Given the description of an element on the screen output the (x, y) to click on. 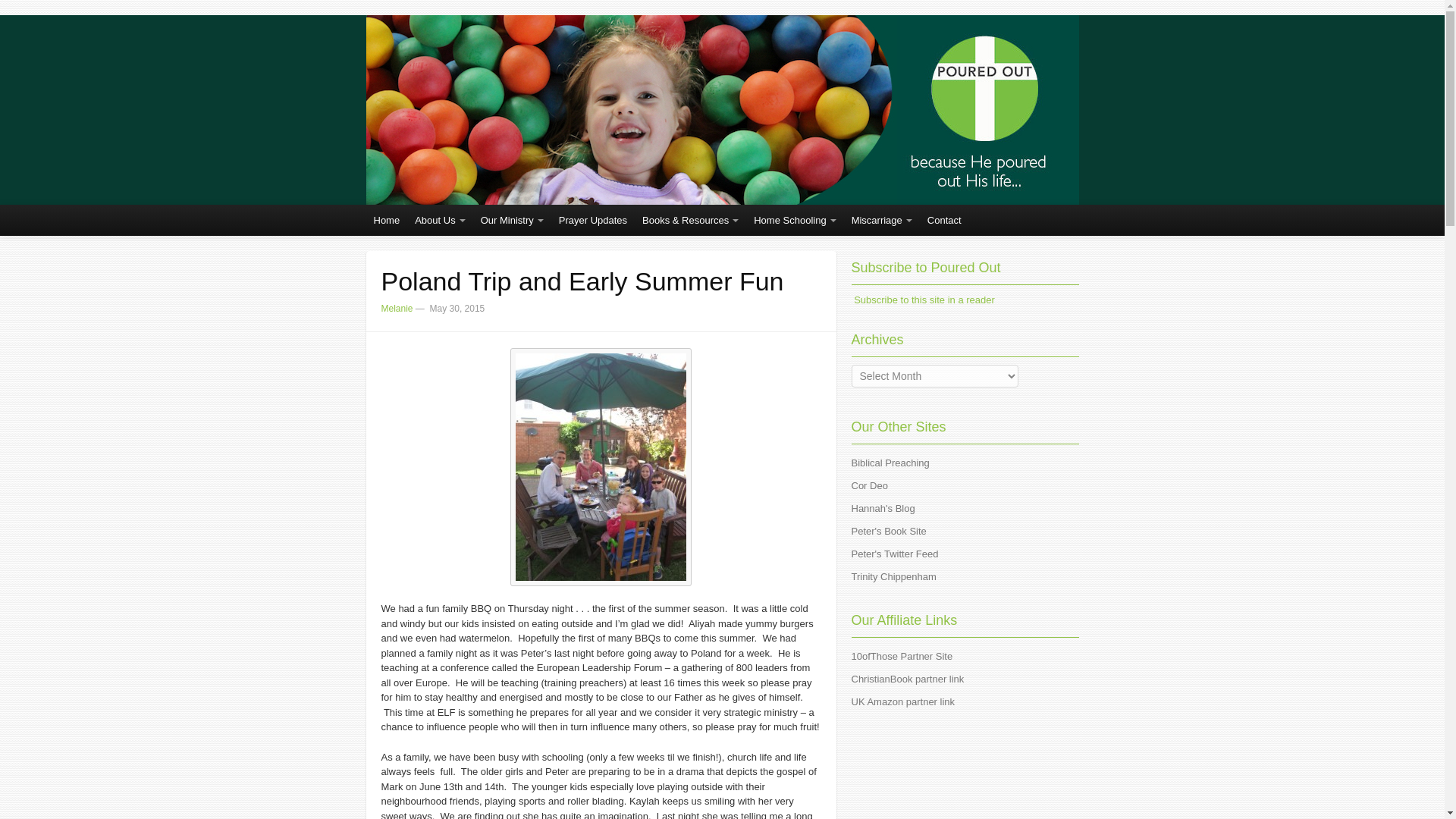
Home Schooling (794, 219)
Contact (944, 219)
Miscarriage (882, 219)
Our Ministry (512, 219)
About Us (439, 219)
Home (386, 219)
Melanie (396, 308)
Prayer Updates (592, 219)
